Given the description of an element on the screen output the (x, y) to click on. 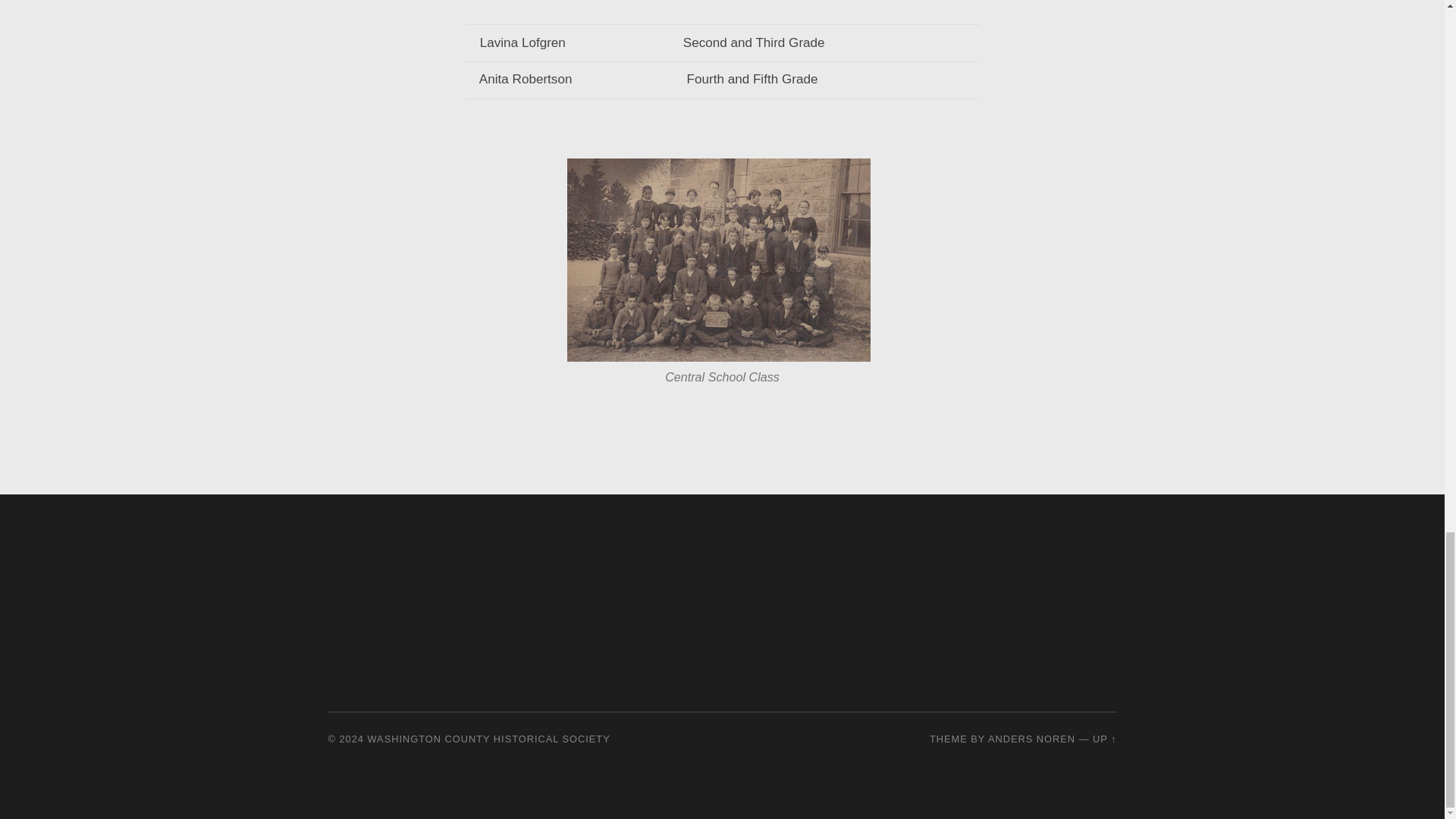
To the top (1104, 738)
